Given the description of an element on the screen output the (x, y) to click on. 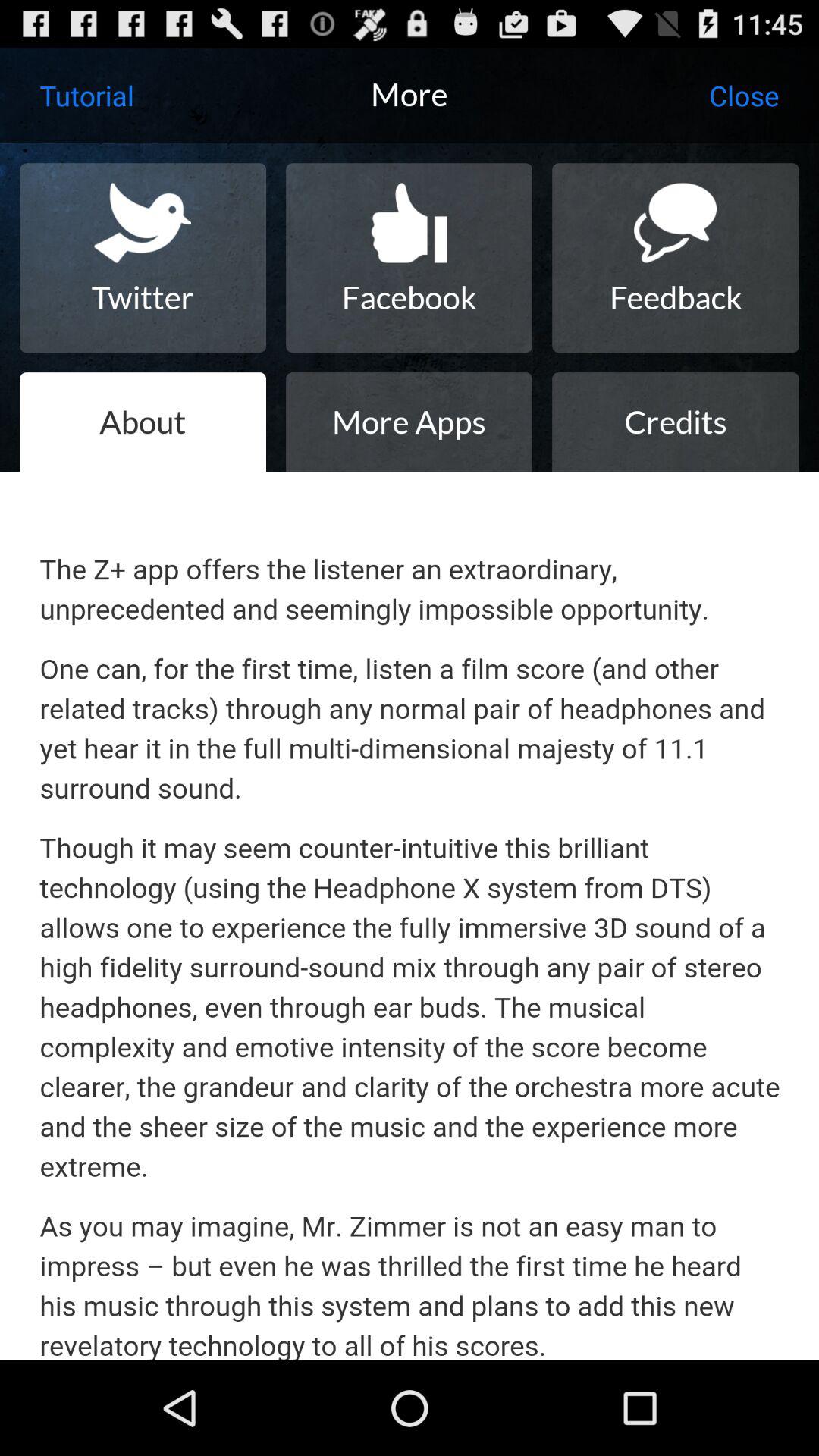
flip until feedback icon (675, 257)
